Given the description of an element on the screen output the (x, y) to click on. 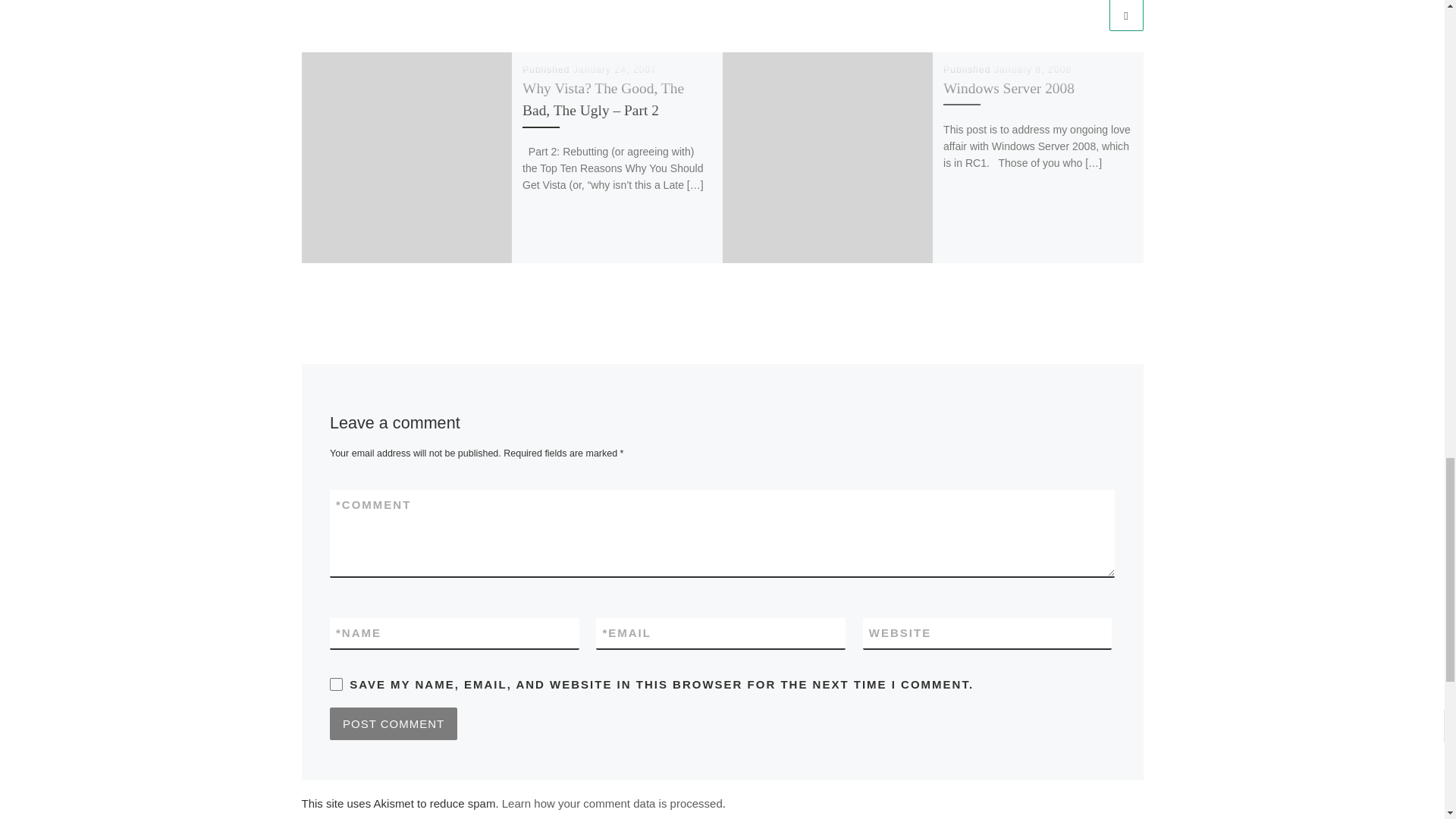
Post Comment (393, 723)
Next related articles (1125, 15)
yes (336, 684)
Previous related articles (1088, 15)
